Given the description of an element on the screen output the (x, y) to click on. 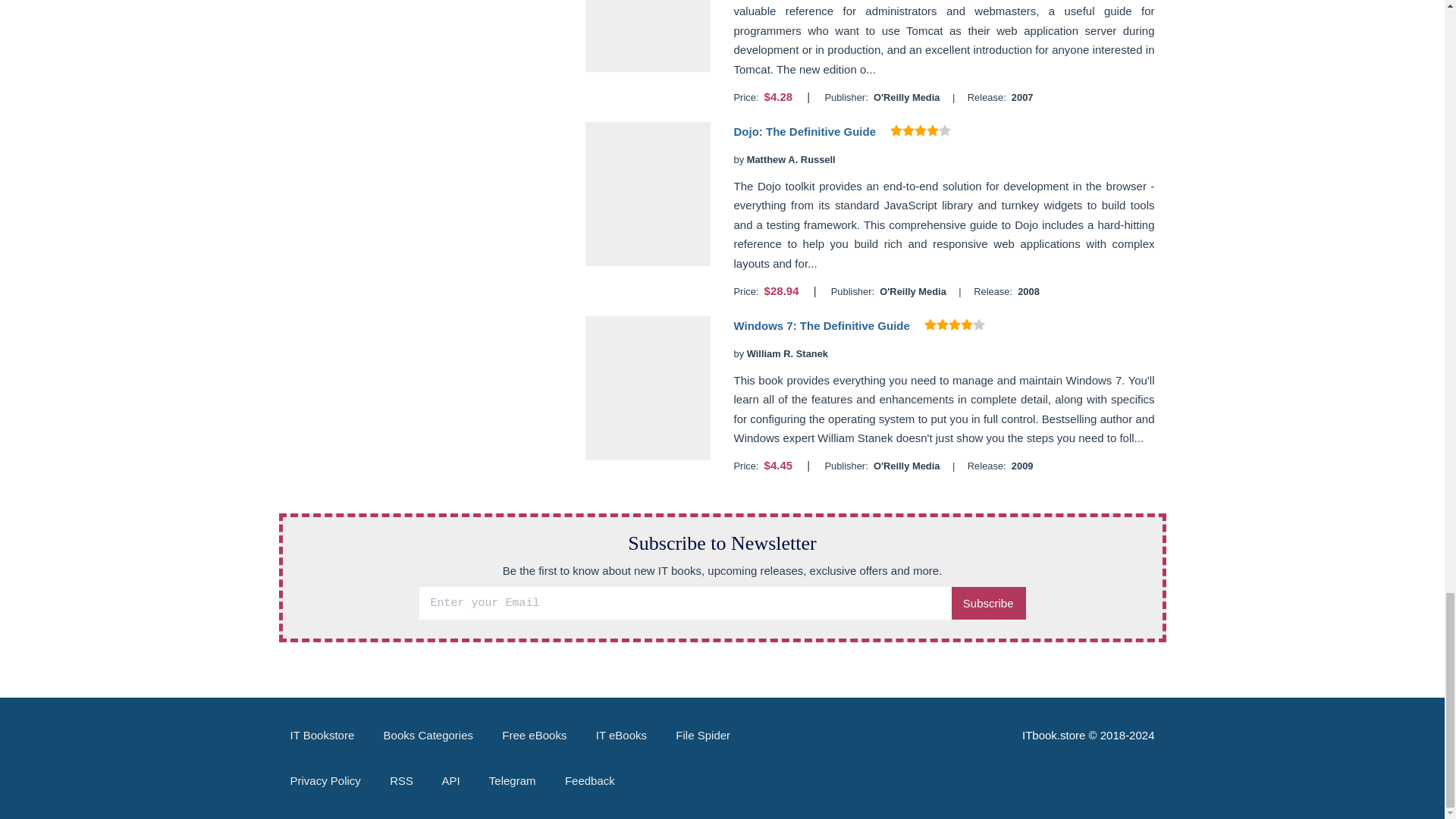
IT Bookstore (321, 735)
Windows 7: The Definitive Guide (820, 325)
Dojo: The Definitive Guide (804, 131)
Subscribe (988, 603)
